Given the description of an element on the screen output the (x, y) to click on. 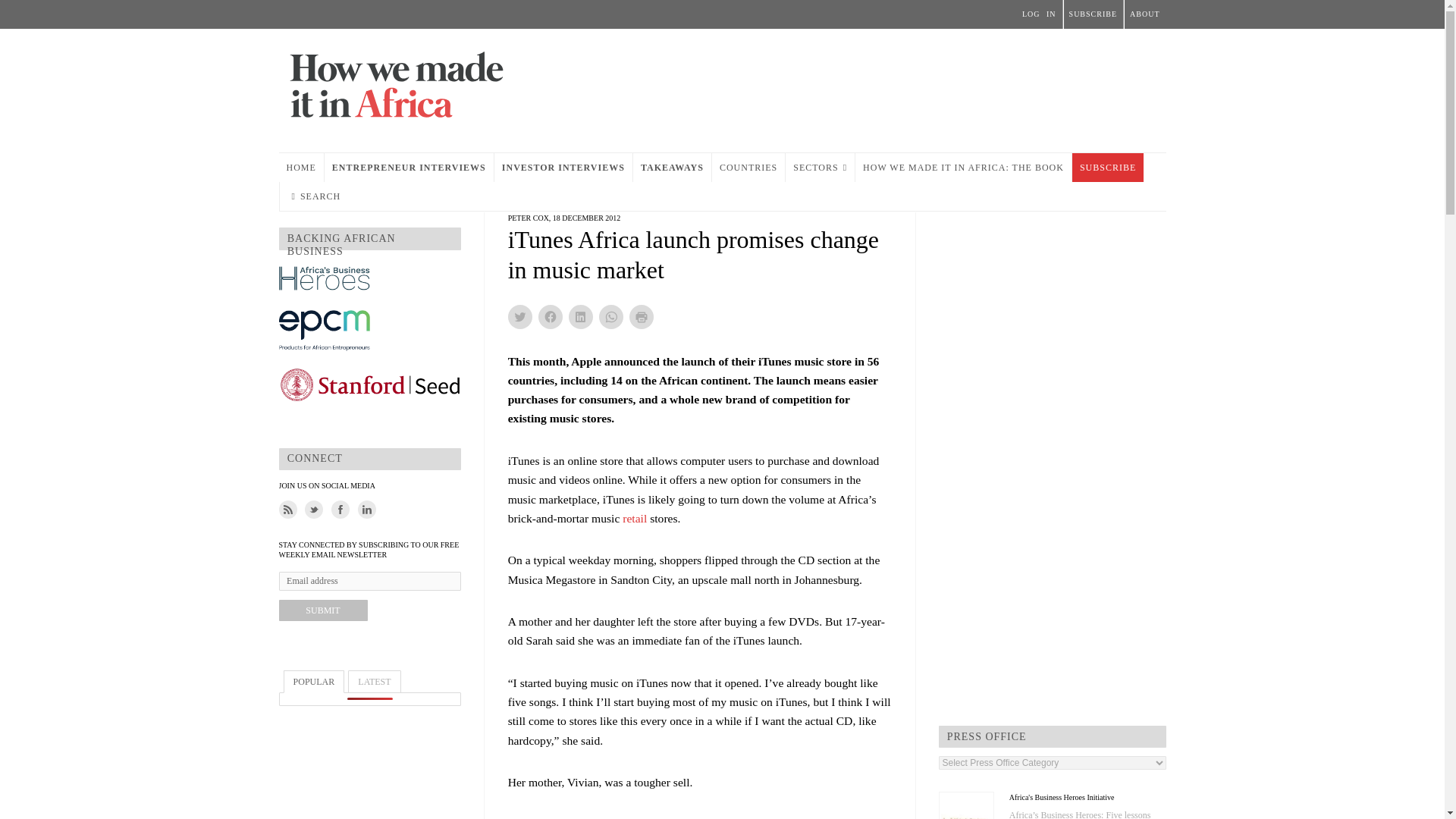
Posts by Peter Cox (528, 217)
ENTREPRENEUR INTERVIEWS (408, 167)
COUNTRIES (747, 167)
Click to share on WhatsApp (610, 316)
Click to share on LinkedIn (580, 316)
SECTORS (820, 167)
Click to share on Twitter (520, 316)
3rd party ad content (890, 87)
Submit (323, 609)
INVESTOR INTERVIEWS (563, 167)
HOME (301, 167)
HOW WE MADE IT IN AFRICA: THE BOOK (963, 167)
SUBSCRIBE (1106, 167)
Click to share on Facebook (550, 316)
PETER COX (528, 217)
